Given the description of an element on the screen output the (x, y) to click on. 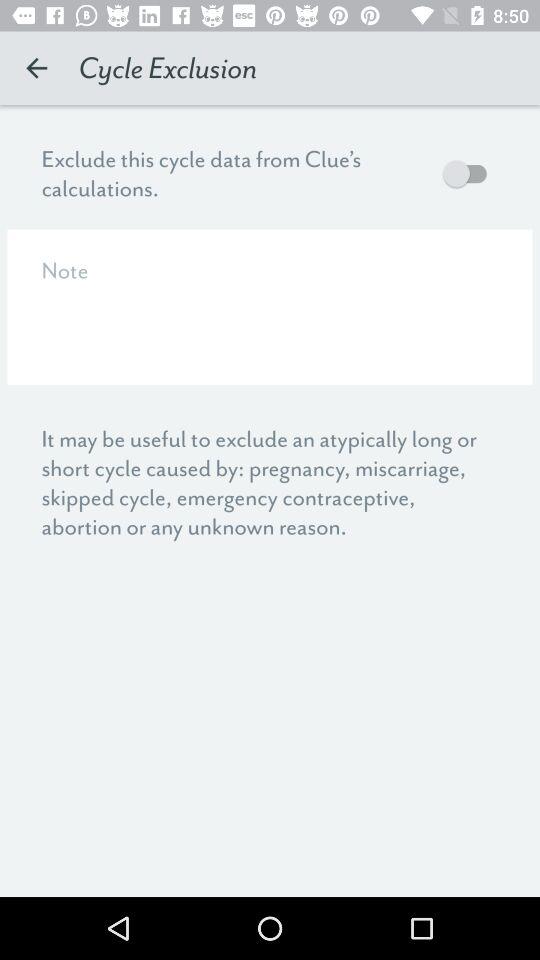
select the icon to the left of the cycle exclusion (36, 68)
